Given the description of an element on the screen output the (x, y) to click on. 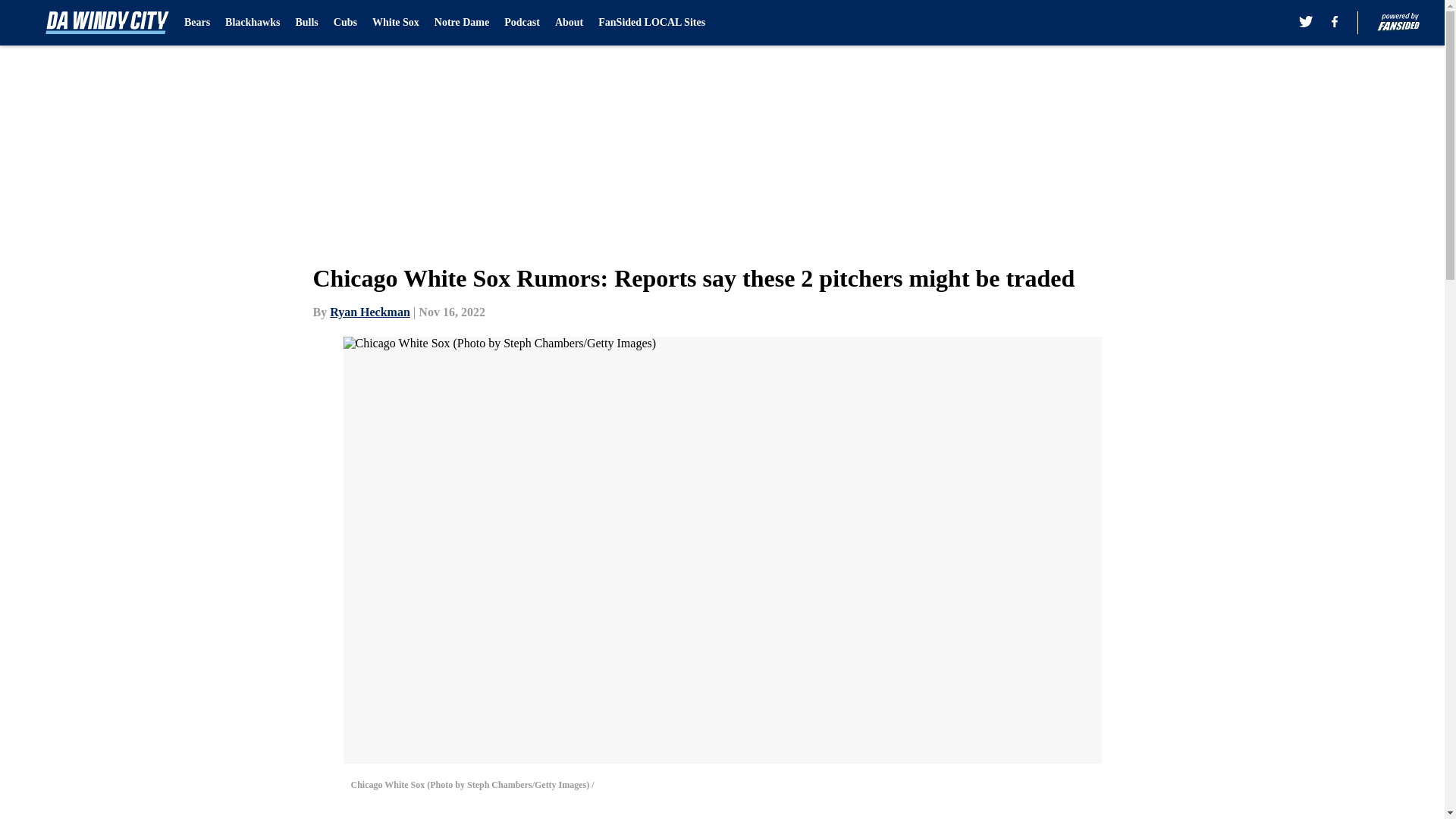
Bulls (306, 22)
FanSided LOCAL Sites (651, 22)
Ryan Heckman (370, 311)
White Sox (395, 22)
Blackhawks (252, 22)
About (568, 22)
Podcast (521, 22)
Cubs (344, 22)
Bears (196, 22)
Notre Dame (461, 22)
